Given the description of an element on the screen output the (x, y) to click on. 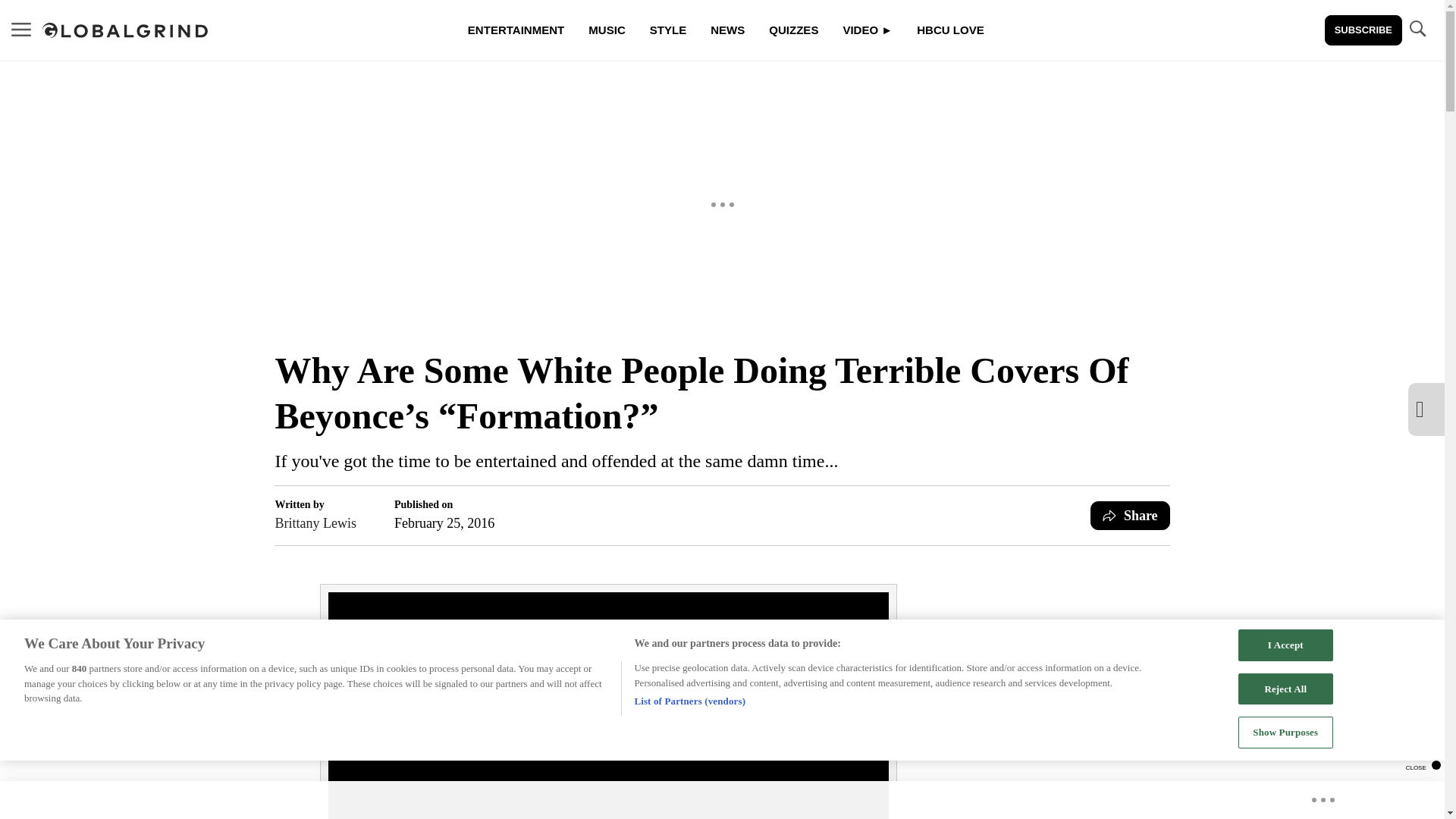
MUSIC (606, 30)
Brittany Lewis (315, 522)
HBCU LOVE (949, 30)
SUBSCRIBE (1363, 30)
STYLE (667, 30)
ENTERTAINMENT (515, 30)
TOGGLE SEARCH (1417, 30)
QUIZZES (793, 30)
Share (1130, 515)
TOGGLE SEARCH (1417, 28)
MENU (20, 30)
NEWS (727, 30)
MENU (20, 29)
